Given the description of an element on the screen output the (x, y) to click on. 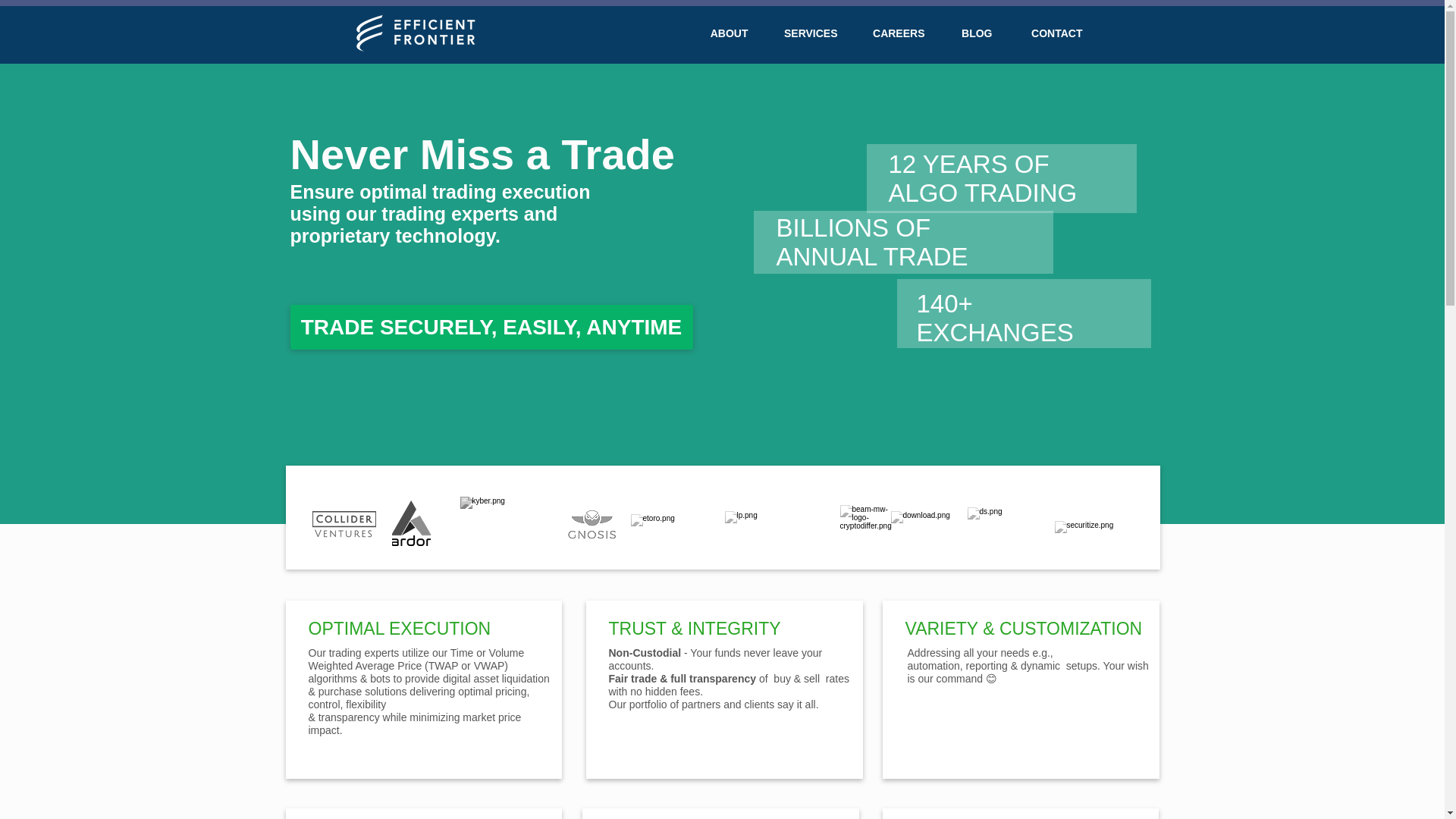
BLOG (969, 32)
CONTACT (1049, 32)
TRADE SECURELY, EASILY, ANYTIME (491, 326)
CAREERS (892, 32)
ABOUT (720, 32)
SERVICES (804, 32)
